Given the description of an element on the screen output the (x, y) to click on. 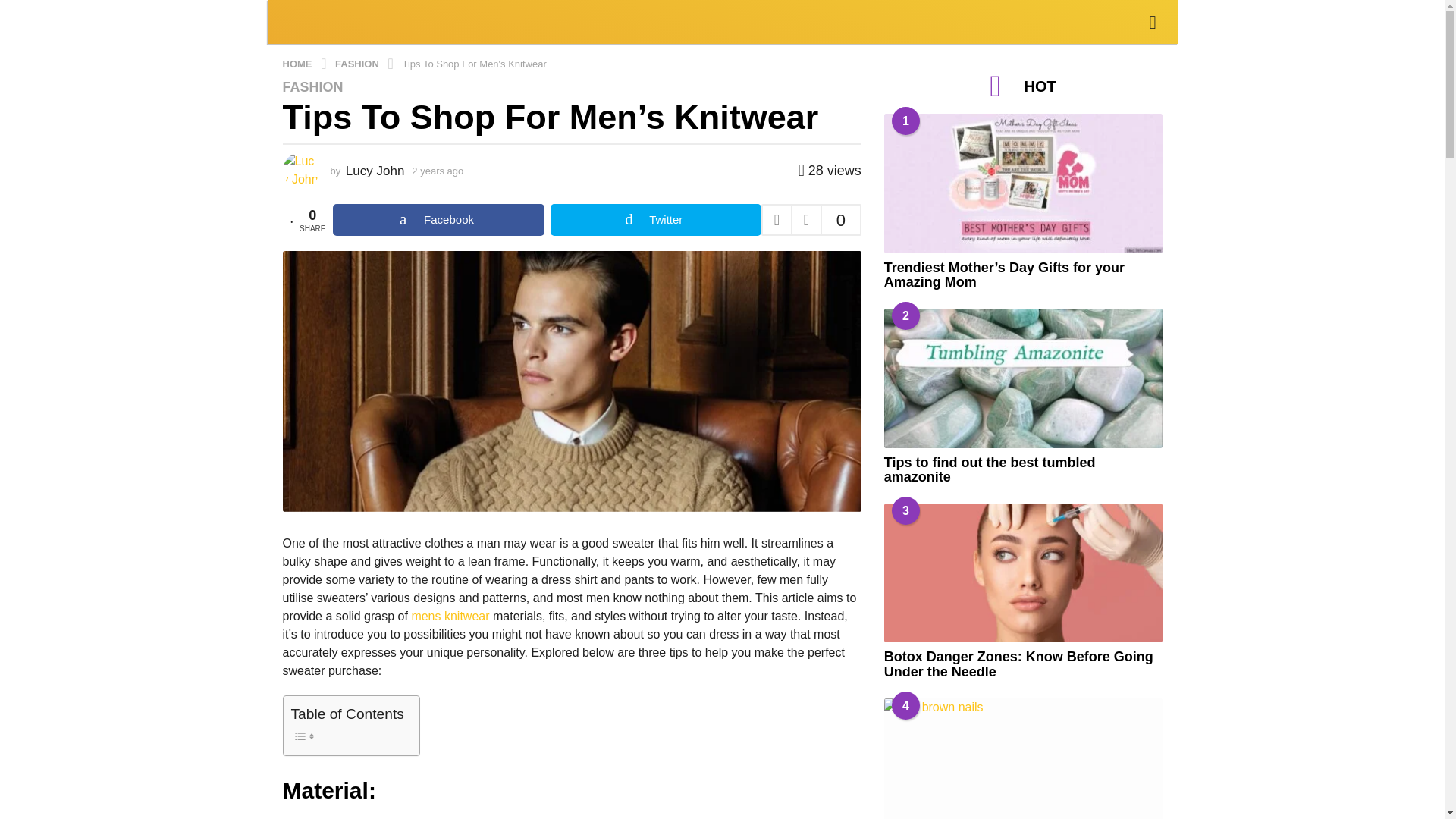
Share on Twitter (655, 219)
Share on Facebook (438, 219)
FASHION (357, 62)
Facebook (438, 219)
Twitter (655, 219)
mens knitwear (449, 615)
HOME (298, 62)
Lucy John (375, 170)
FASHION (312, 87)
Tips To Shop For Men's Knitwear (473, 62)
